Given the description of an element on the screen output the (x, y) to click on. 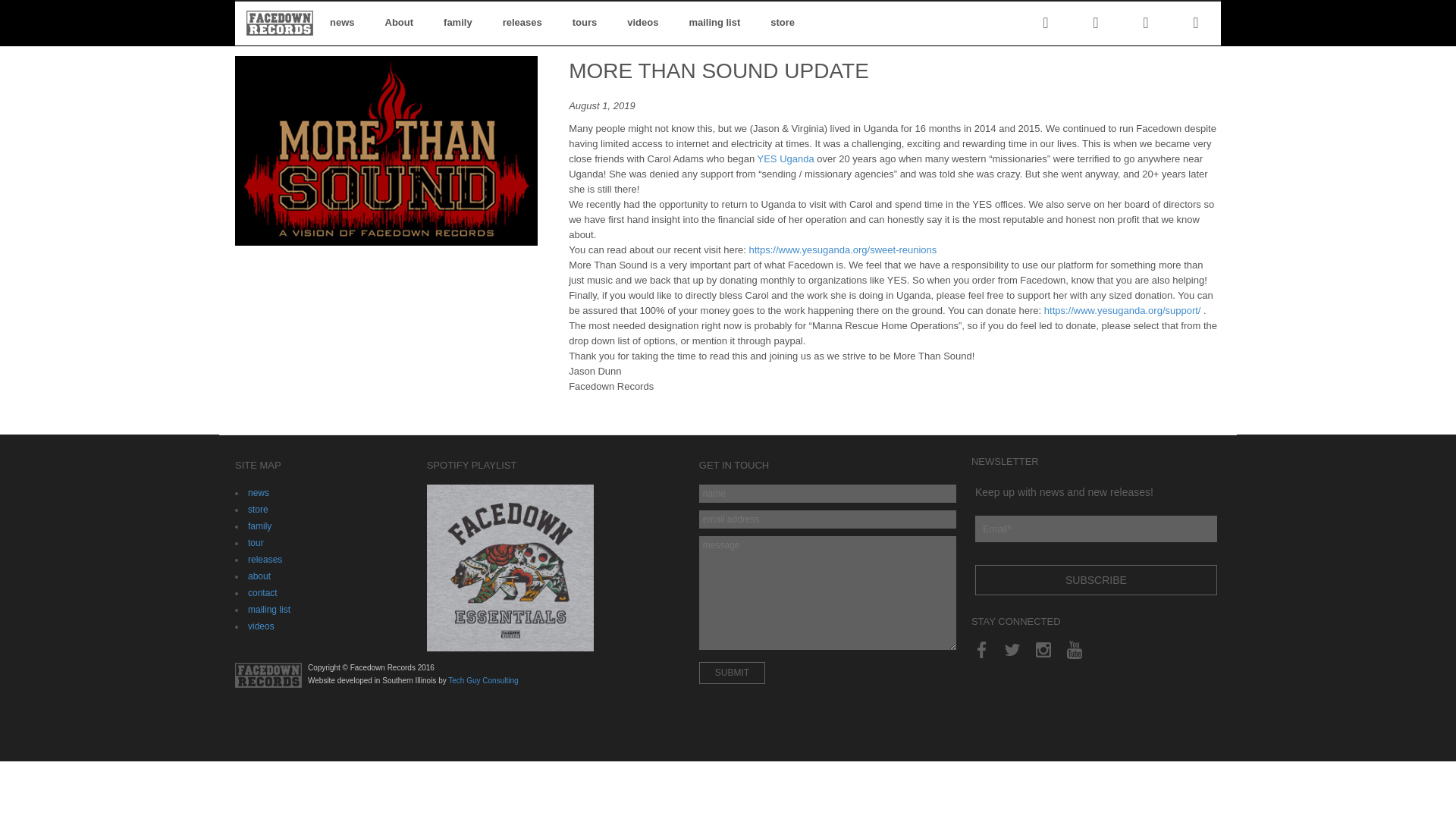
Instagram (1042, 650)
videos (261, 625)
mailing list (268, 609)
Youtube (1074, 650)
Submit (731, 672)
Tech Guy Consulting (483, 680)
tour (727, 22)
SUBSCRIBE (255, 542)
About (1096, 580)
Submit (399, 23)
YES Uganda (731, 672)
contact (785, 158)
family (262, 593)
mailing list (457, 23)
